Given the description of an element on the screen output the (x, y) to click on. 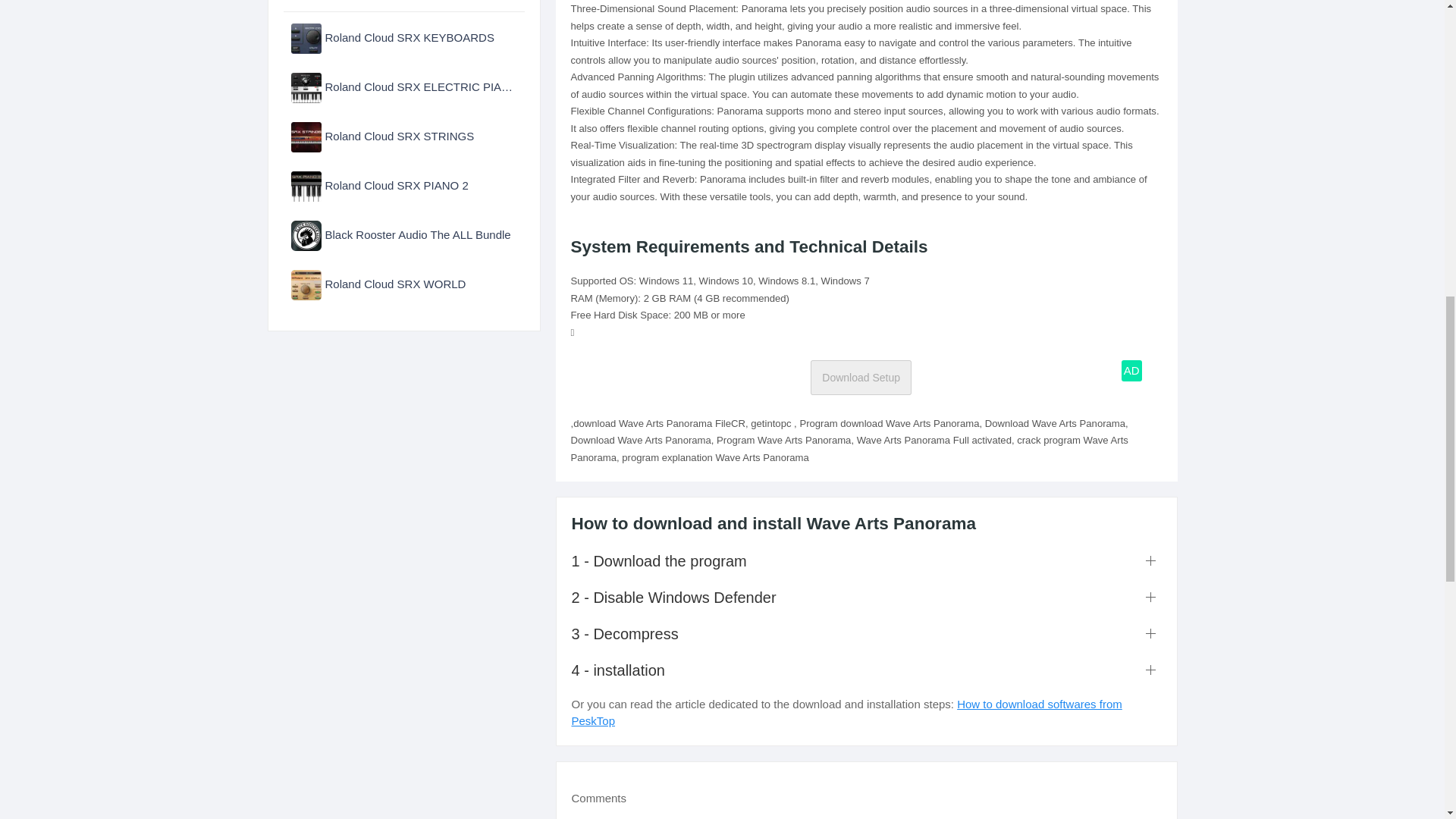
Download Setup (860, 377)
4 - installation (866, 670)
How to download softwares from PeskTop (847, 712)
3 - Decompress (866, 633)
Download Setup (860, 377)
Roland Cloud SRX KEYBOARDS (403, 36)
Roland Cloud SRX ELECTRIC PIANO (403, 85)
1 - Download the program (866, 560)
2 - Disable Windows Defender (866, 597)
